Given the description of an element on the screen output the (x, y) to click on. 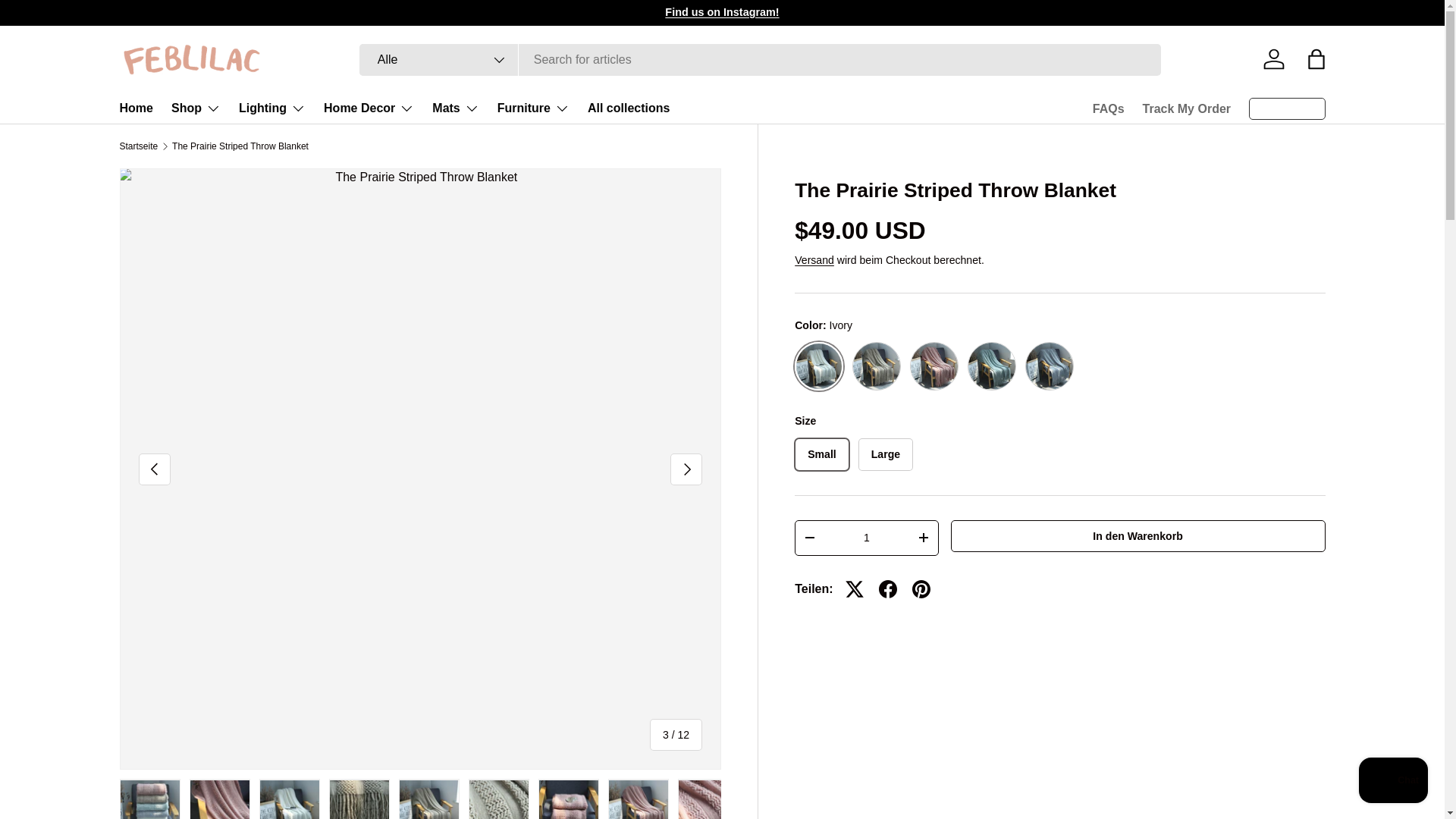
Auf Facebook teilen (887, 589)
1 (866, 537)
Alle (438, 60)
Shop (196, 108)
Onlineshop-Chat von Shopify (1393, 781)
